Given the description of an element on the screen output the (x, y) to click on. 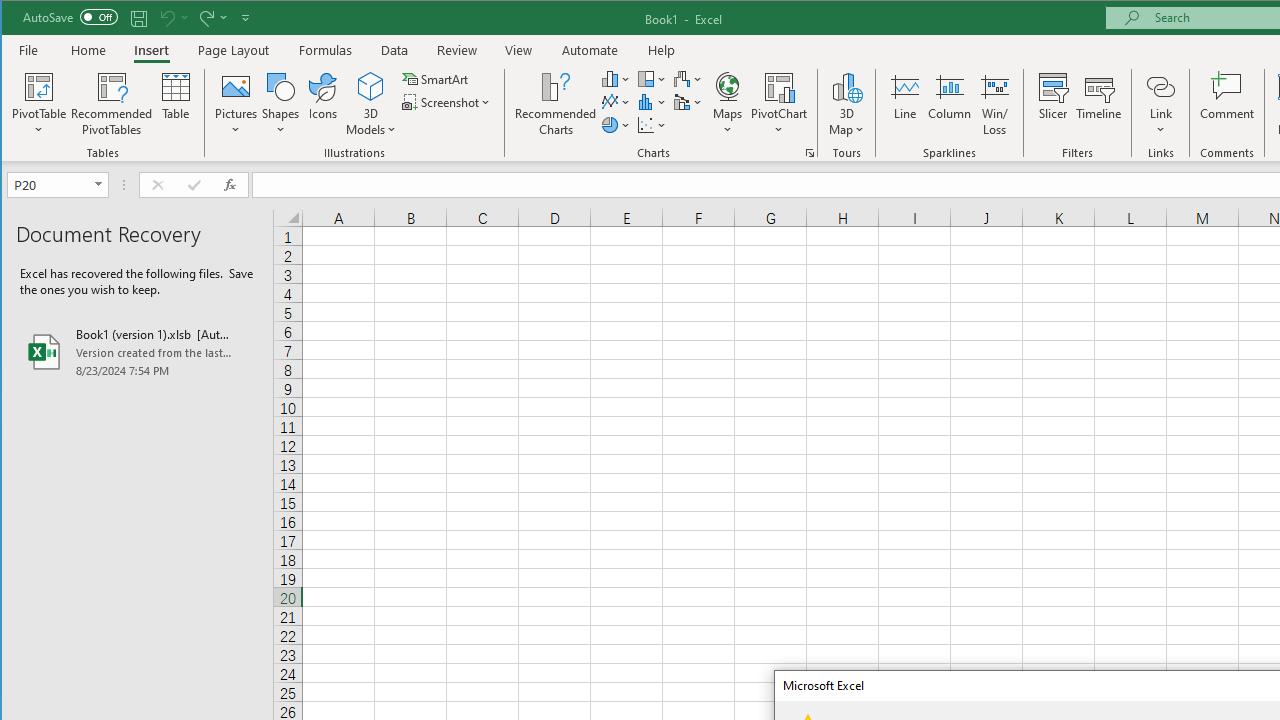
PivotChart (779, 86)
Link (1160, 86)
3D Models (371, 104)
Open (99, 184)
Review (456, 50)
Pictures (235, 104)
Insert Waterfall, Funnel, Stock, Surface, or Radar Chart (688, 78)
PivotTable (39, 104)
Save (139, 17)
More Options (1160, 123)
Insert Scatter (X, Y) or Bubble Chart (652, 124)
Column (949, 104)
Recommended PivotTables (111, 104)
